Given the description of an element on the screen output the (x, y) to click on. 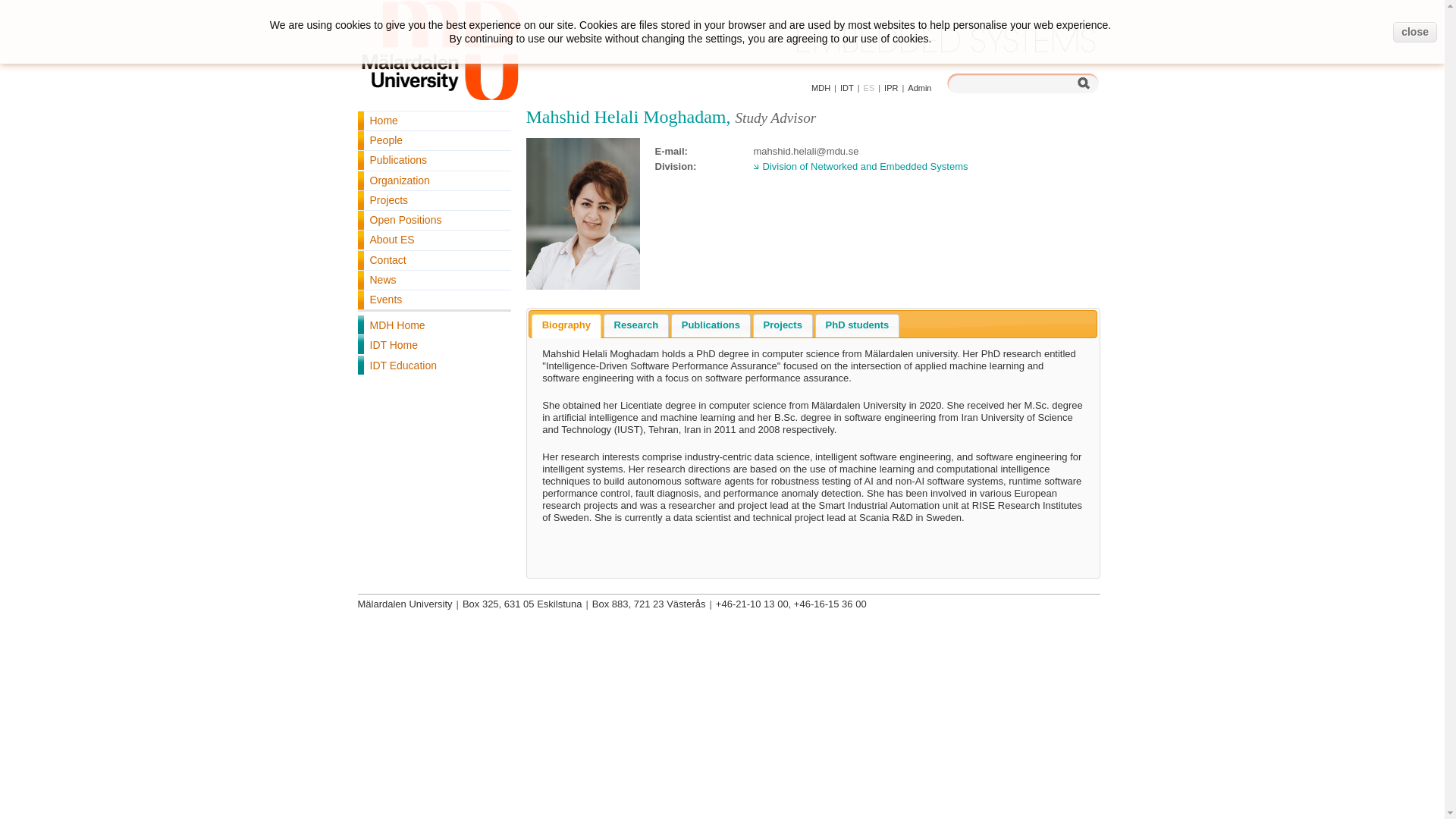
Projects (783, 325)
Home (437, 120)
People (437, 140)
MDH (819, 87)
Publications (710, 325)
Projects (437, 199)
IPR (890, 87)
Division of Networked and Embedded Systems (861, 165)
About ES (437, 239)
IDT (846, 87)
IDT Education (437, 365)
IDT (945, 52)
Biography (565, 325)
Publications (437, 159)
News (437, 280)
